Given the description of an element on the screen output the (x, y) to click on. 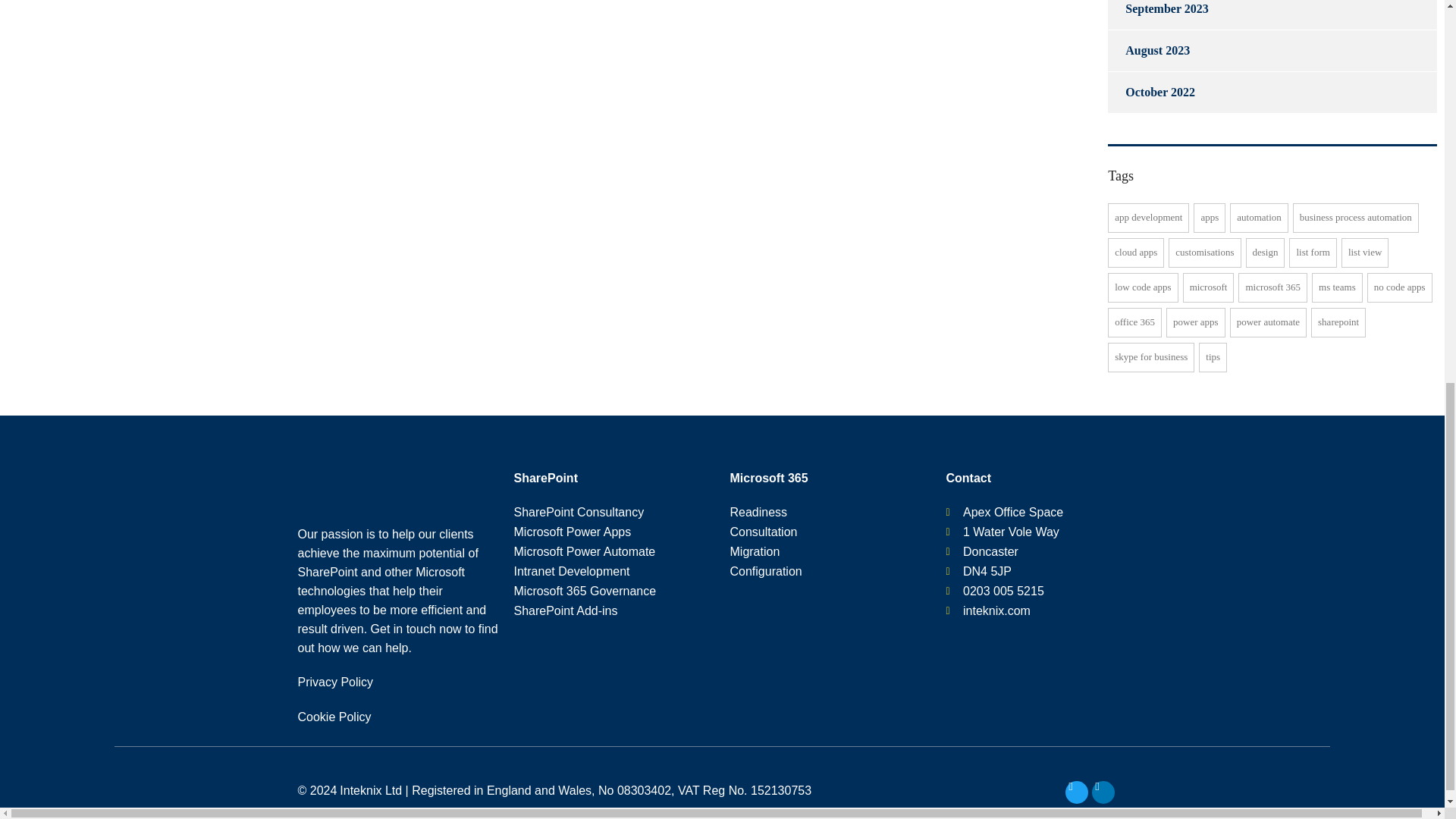
list view (1364, 252)
list form (1312, 252)
cloud apps (1135, 252)
September 2023 (1158, 14)
business process automation (1355, 217)
design (1264, 252)
October 2022 (1151, 92)
ms teams (1336, 287)
microsoft 365 (1273, 287)
microsoft (1208, 287)
apps (1209, 217)
August 2023 (1148, 50)
automation (1259, 217)
app development (1148, 217)
customisations (1204, 252)
